Given the description of an element on the screen output the (x, y) to click on. 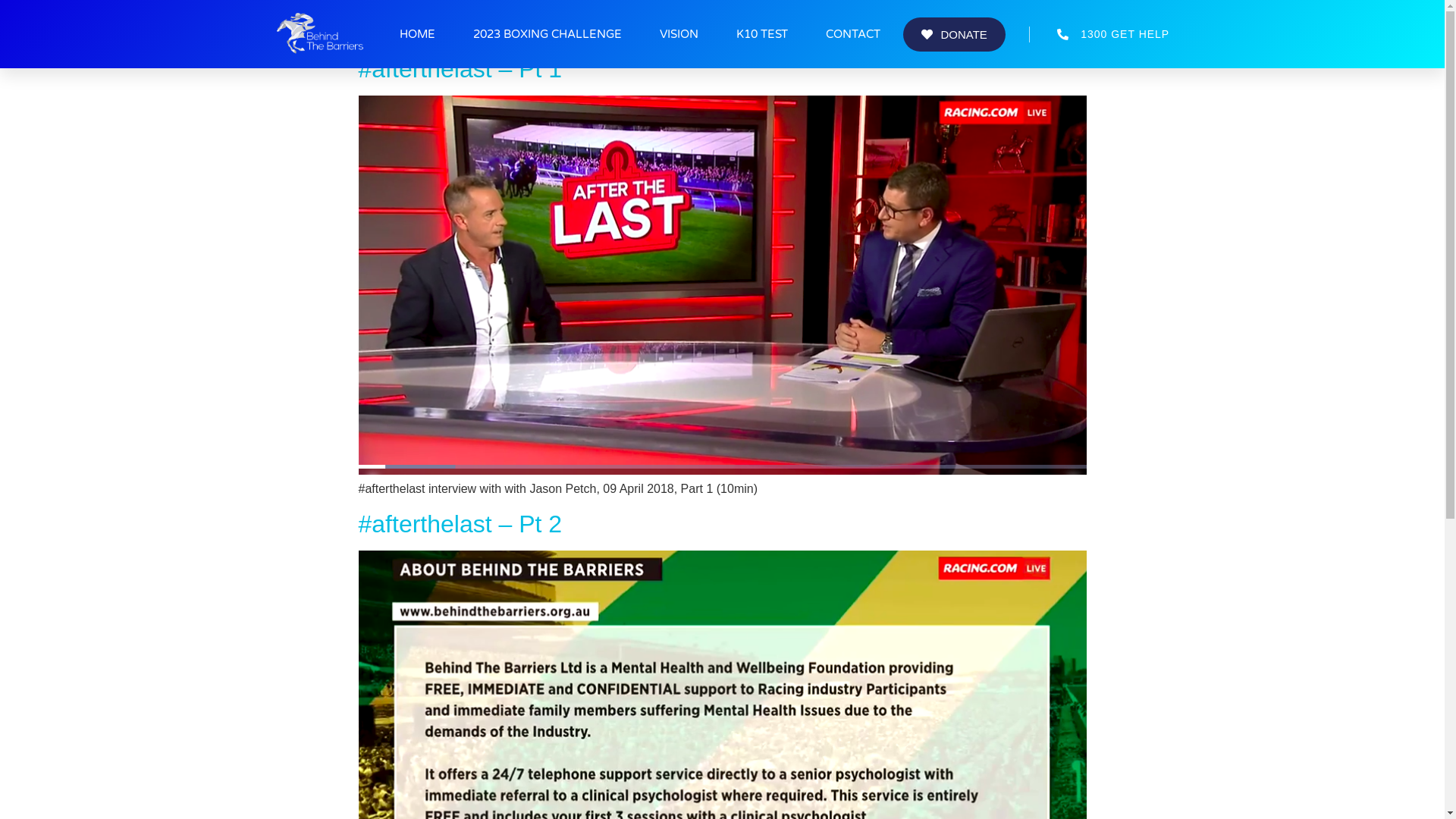
DONATE Element type: text (953, 33)
K10 TEST Element type: text (761, 34)
VISION Element type: text (678, 34)
1300 GET HELP Element type: text (1099, 33)
HOME Element type: text (417, 34)
CONTACT Element type: text (852, 34)
2023 BOXING CHALLENGE Element type: text (547, 34)
